Given the description of an element on the screen output the (x, y) to click on. 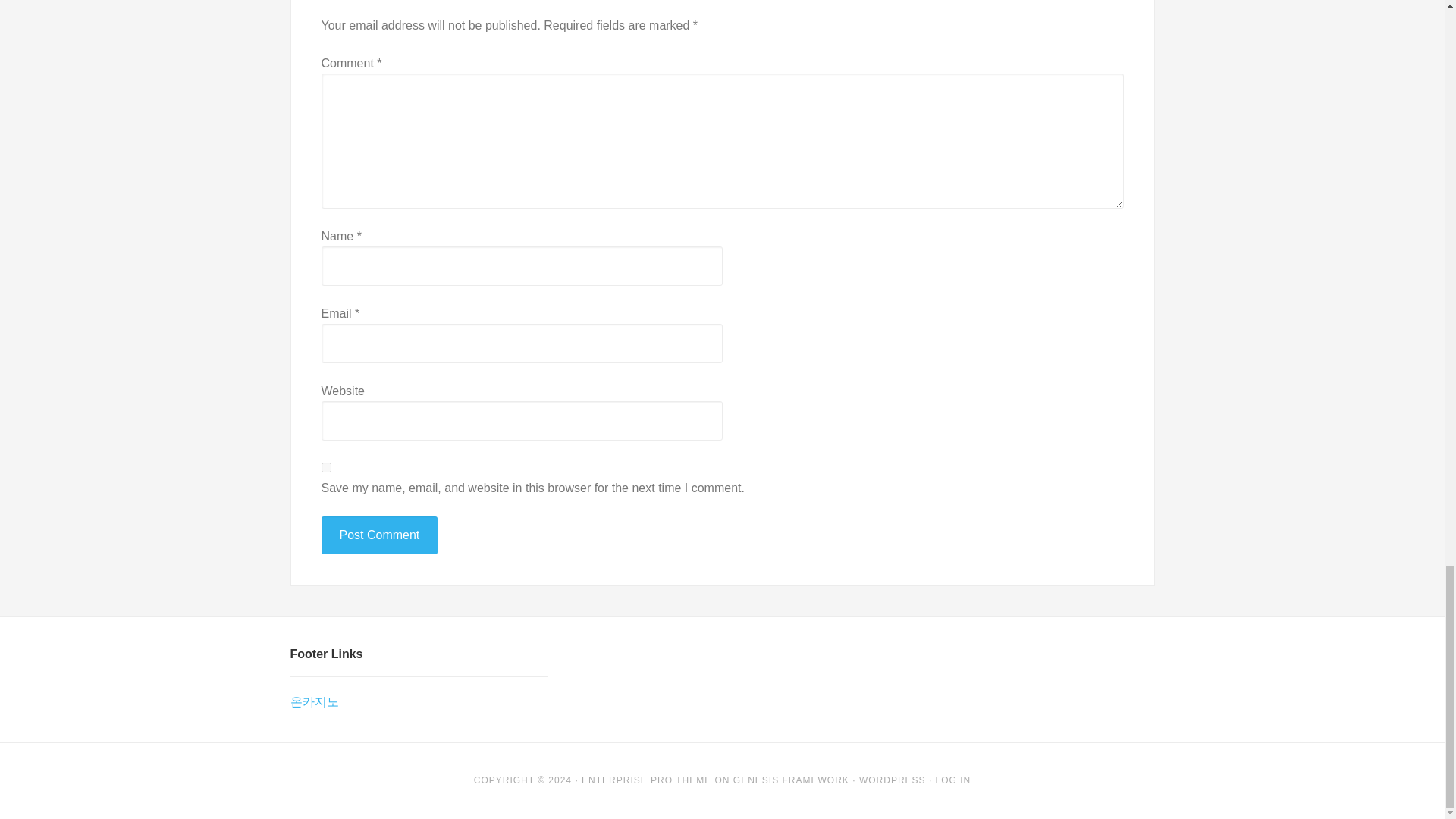
Post Comment (379, 535)
ENTERPRISE PRO THEME (645, 779)
LOG IN (953, 779)
Post Comment (379, 535)
GENESIS FRAMEWORK (790, 779)
WORDPRESS (892, 779)
yes (326, 467)
